Given the description of an element on the screen output the (x, y) to click on. 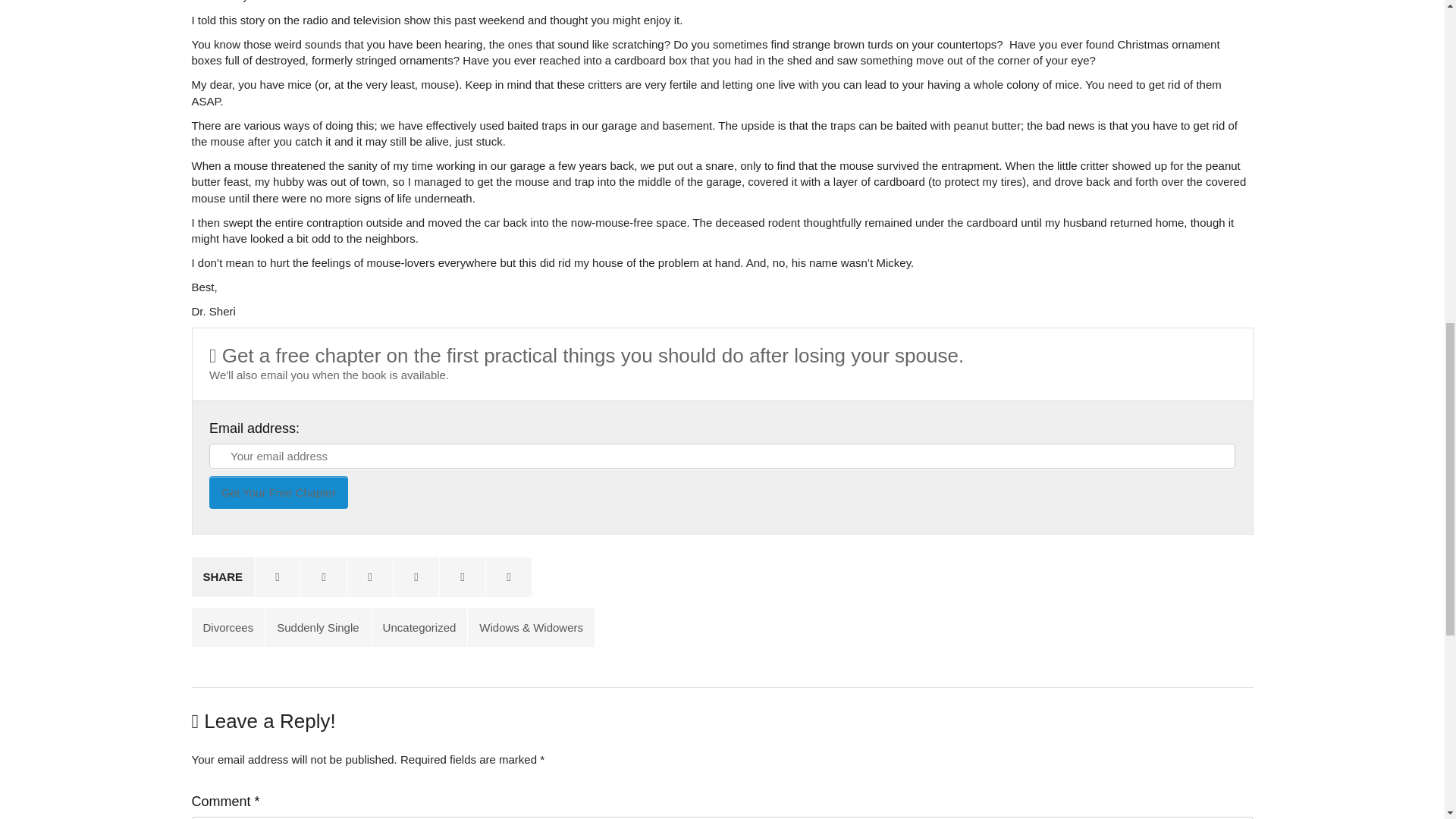
Uncategorized (419, 627)
Divorcees (227, 627)
Get Your Free Chapter (278, 491)
Get Your Free Chapter (278, 491)
Suddenly Single (316, 627)
